Given the description of an element on the screen output the (x, y) to click on. 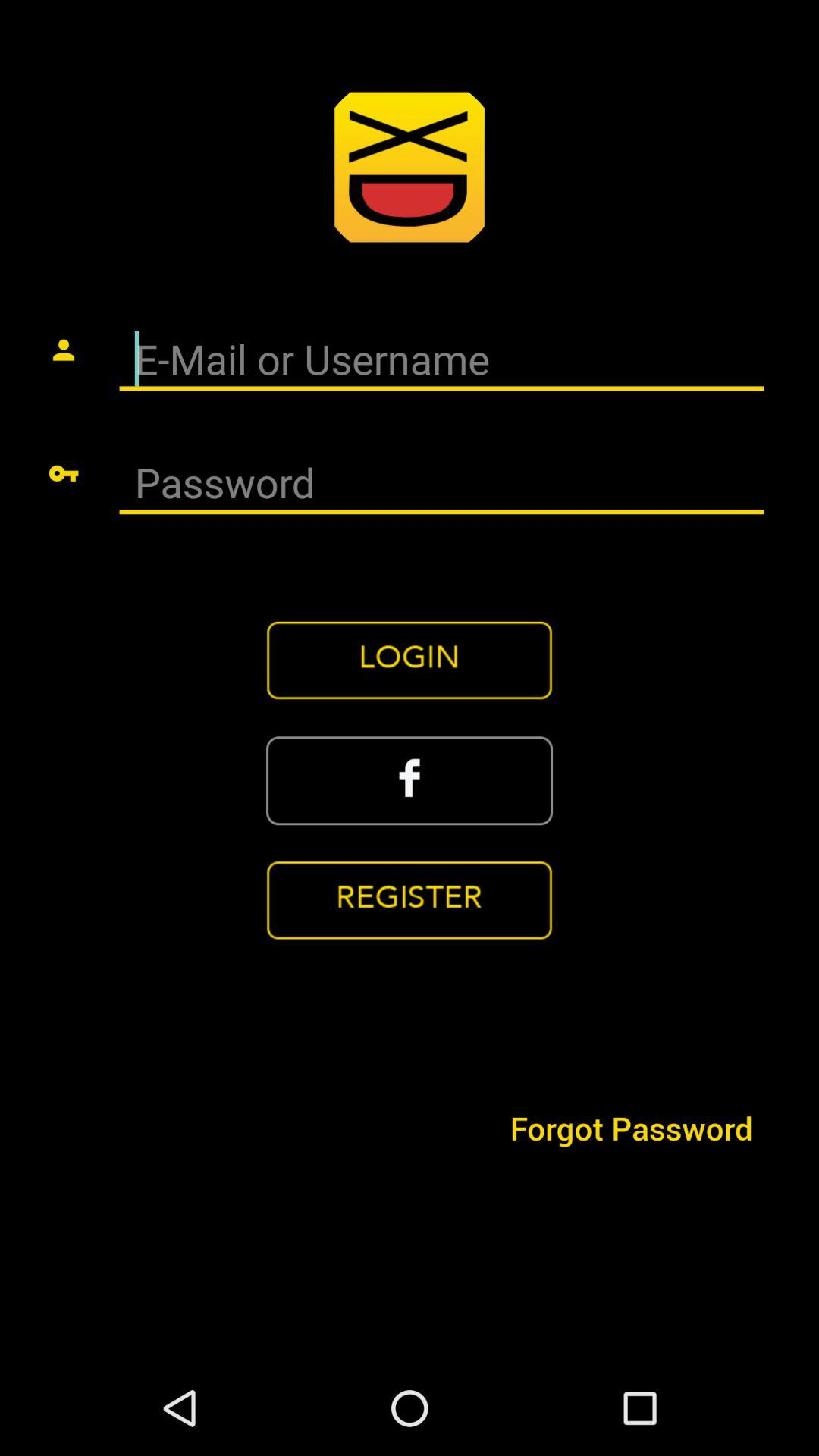
click to register (409, 900)
